Given the description of an element on the screen output the (x, y) to click on. 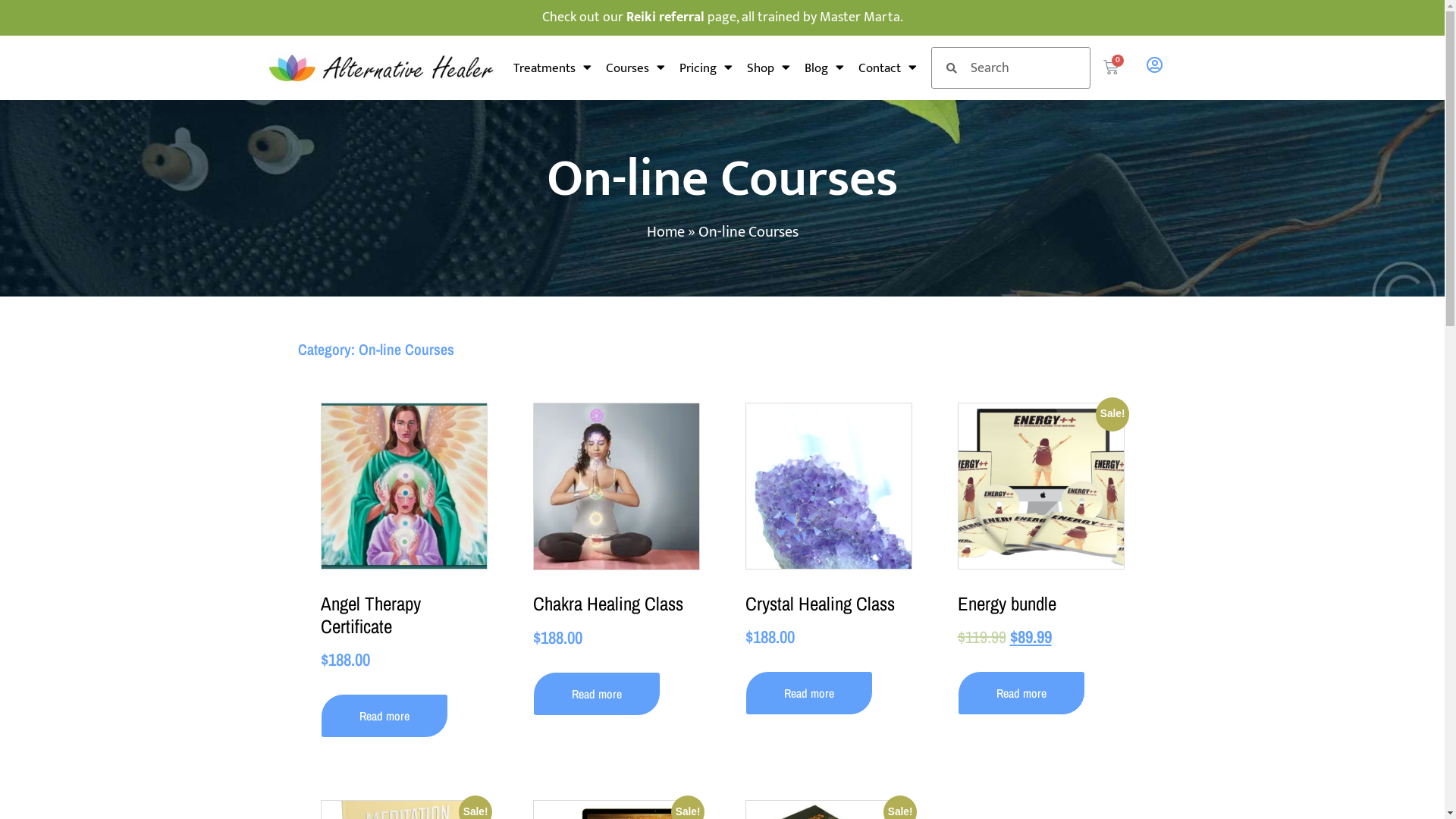
Treatments Element type: text (552, 67)
Shop Element type: text (768, 67)
Blog Element type: text (824, 67)
Reiki referral Element type: text (665, 17)
Read more Element type: text (383, 715)
Sale!
Energy bundle
$119.99 $89.99 Element type: text (1040, 526)
Pricing Element type: text (705, 67)
Read more Element type: text (1020, 693)
Home Element type: text (665, 231)
Crystal Healing Class
$188.00 Element type: text (827, 526)
Courses Element type: text (635, 67)
Search Element type: hover (1023, 67)
Read more Element type: text (808, 693)
Angel Therapy Certificate
$188.00 Element type: text (403, 537)
Contact Element type: text (887, 67)
Read more Element type: text (595, 693)
Chakra Healing Class
$188.00 Element type: text (615, 526)
